Given the description of an element on the screen output the (x, y) to click on. 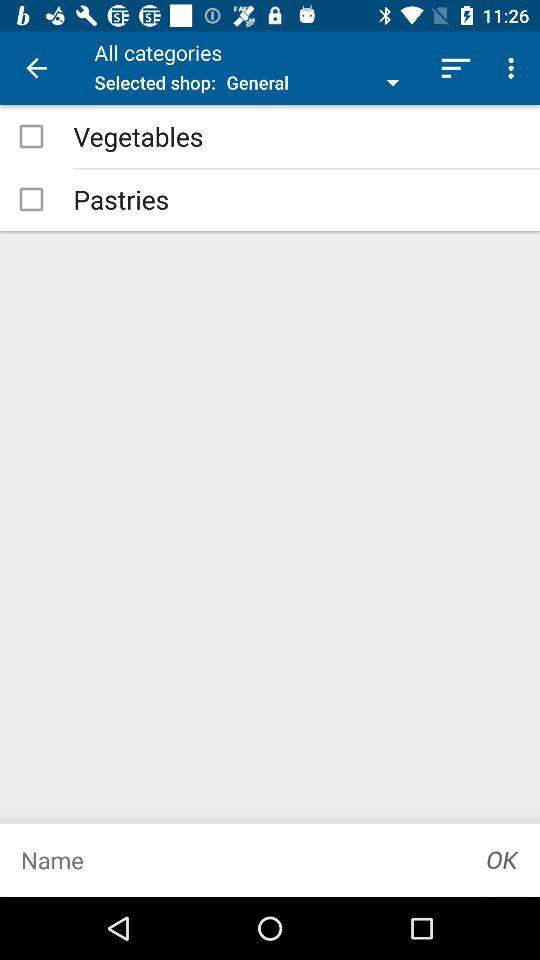
type name (233, 860)
